Given the description of an element on the screen output the (x, y) to click on. 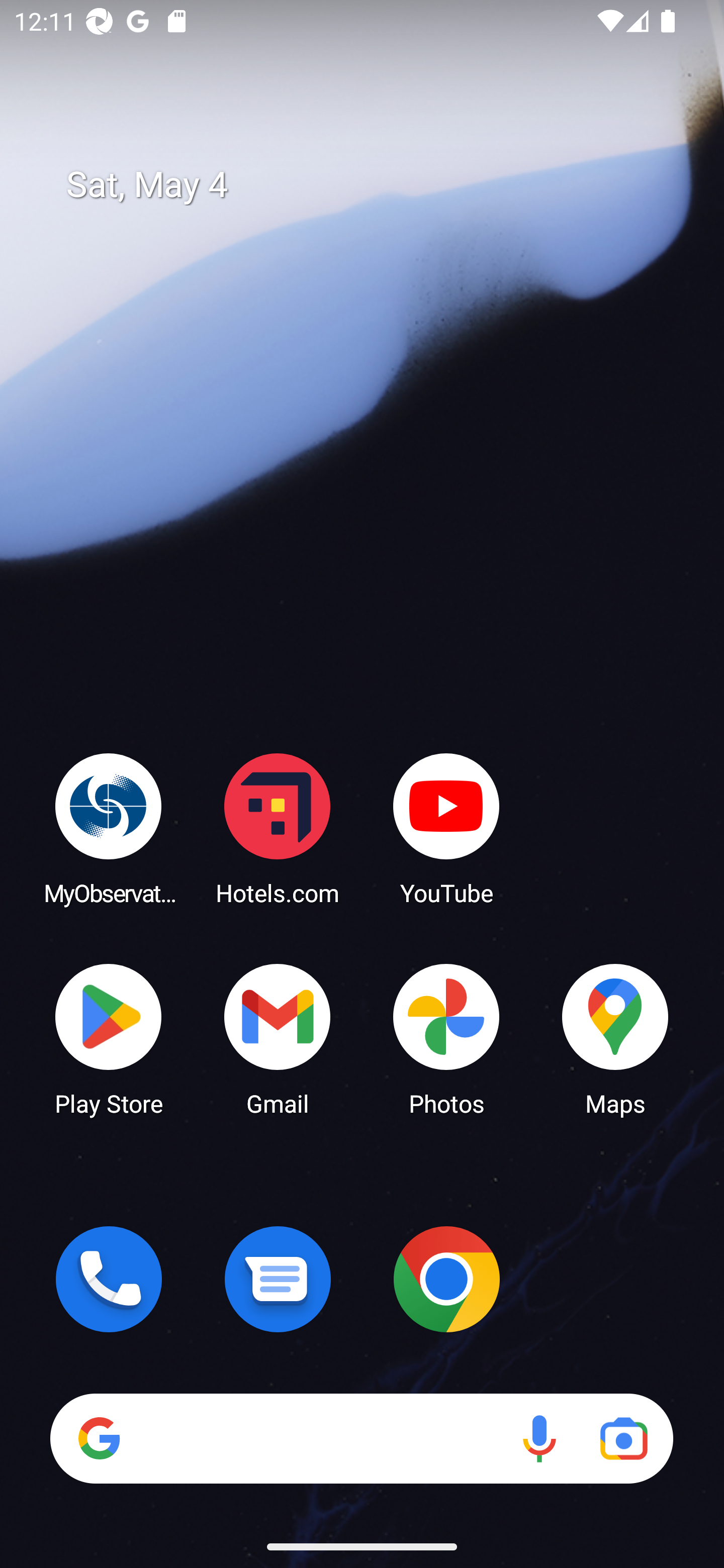
Sat, May 4 (375, 184)
MyObservatory (108, 828)
Hotels.com (277, 828)
YouTube (445, 828)
Play Store (108, 1038)
Gmail (277, 1038)
Photos (445, 1038)
Maps (615, 1038)
Phone (108, 1279)
Messages (277, 1279)
Chrome (446, 1279)
Search Voice search Google Lens (361, 1438)
Voice search (539, 1438)
Google Lens (623, 1438)
